Given the description of an element on the screen output the (x, y) to click on. 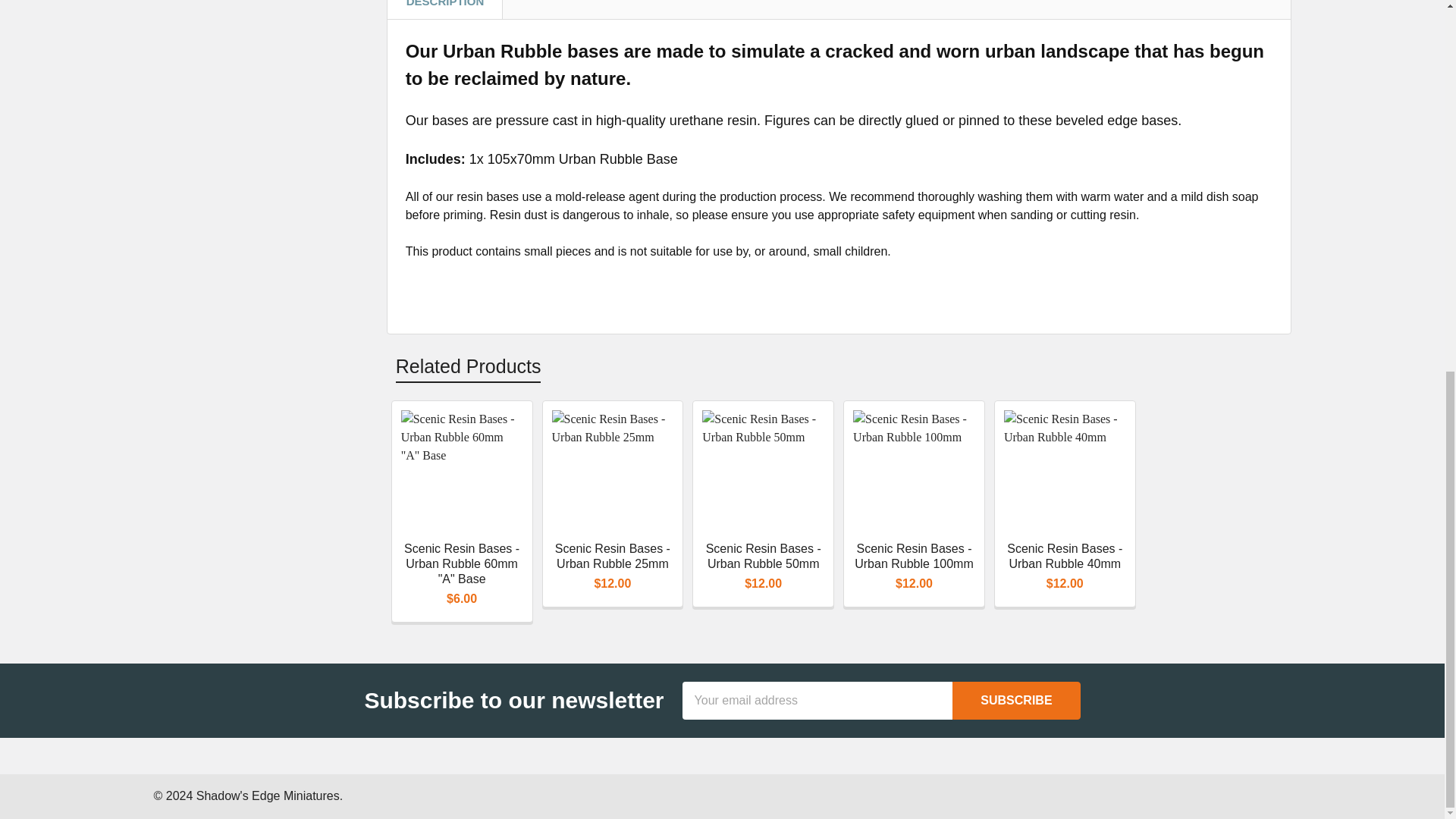
Scenic Resin Bases - Urban Rubble 40mm (1064, 471)
Subscribe (1016, 700)
Scenic Resin Bases - Urban Rubble 100mm (914, 471)
Scenic Resin Bases - Urban Rubble 25mm (612, 471)
Scenic Resin Bases - Urban Rubble 50mm (762, 471)
Scenic Resin Bases - Urban Rubble 60mm "A" Base (461, 471)
